Given the description of an element on the screen output the (x, y) to click on. 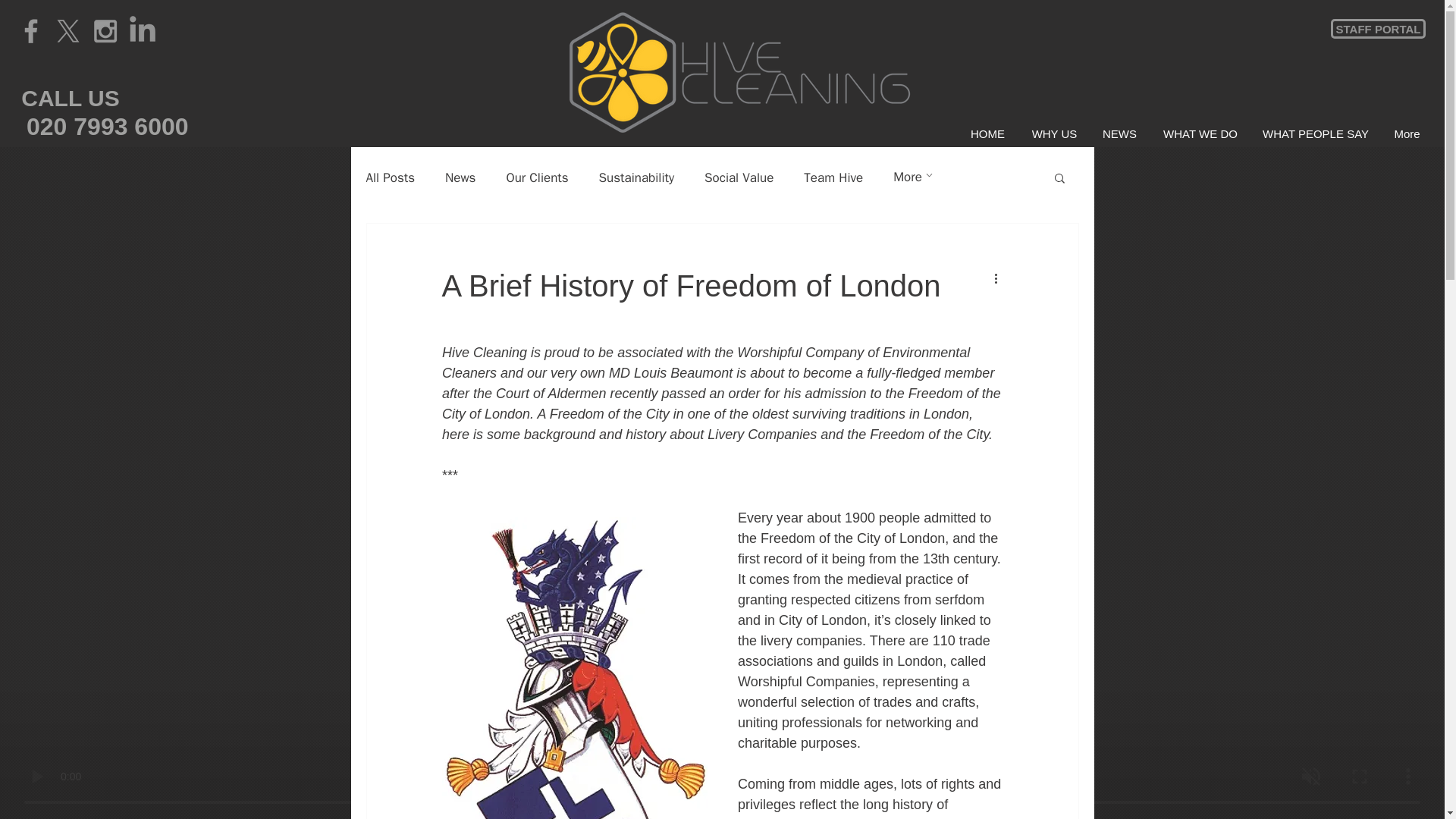
All Posts (389, 176)
WHAT PEOPLE SAY (1315, 133)
Team Hive (833, 176)
NEWS (1119, 133)
HOME (987, 133)
Social Value (738, 176)
WHY US (1054, 133)
STAFF PORTAL (1377, 28)
WHAT WE DO (1200, 133)
Our Clients (536, 176)
News (460, 176)
020 7993 6000 (107, 126)
Sustainability (636, 176)
